Given the description of an element on the screen output the (x, y) to click on. 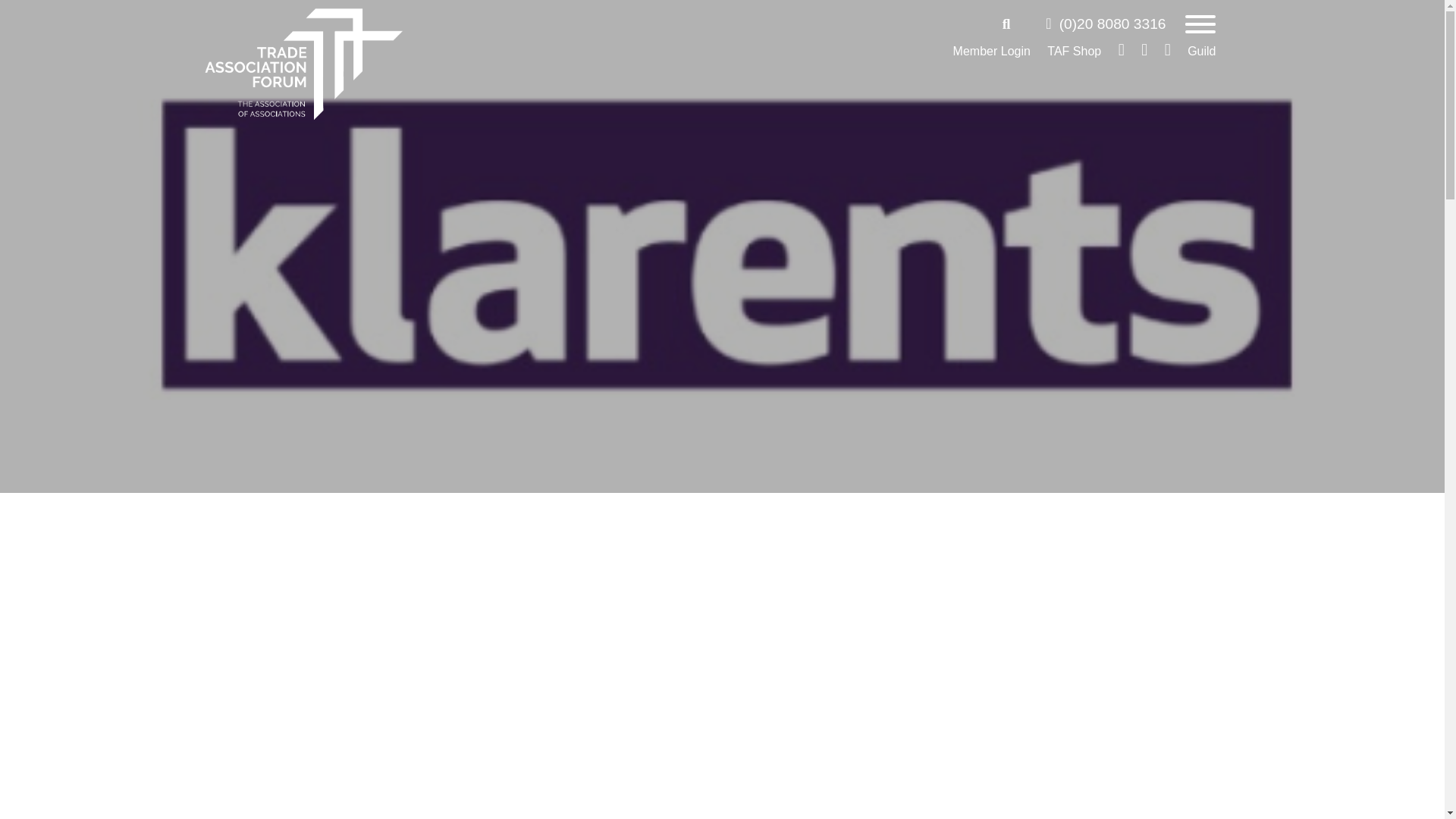
TAF Shop (1073, 50)
Member Login (991, 50)
Guild (1201, 50)
